Given the description of an element on the screen output the (x, y) to click on. 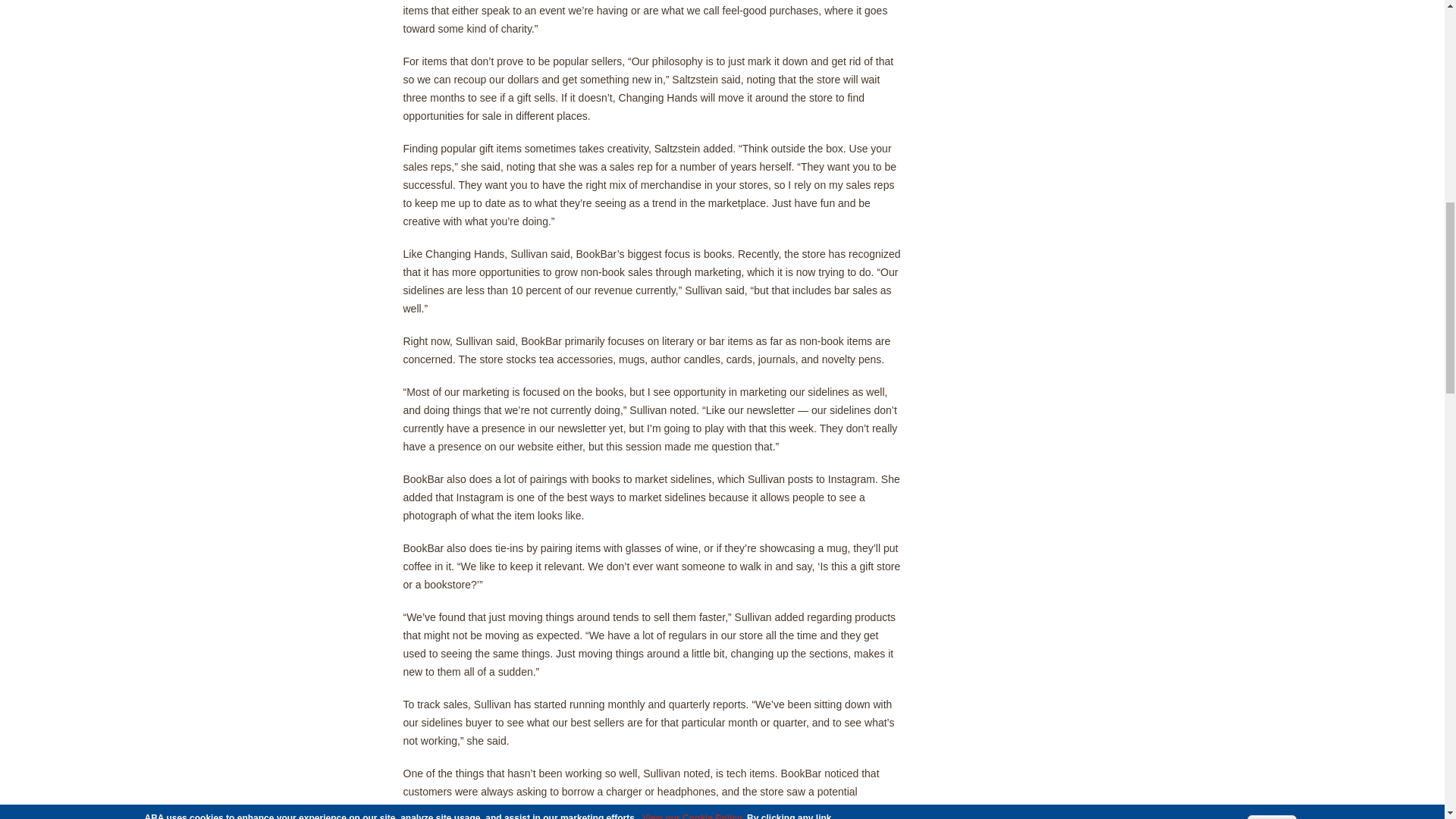
Privacy and cookie info (478, 16)
View our Cookie Policy (691, 2)
Accept (1272, 11)
